Given the description of an element on the screen output the (x, y) to click on. 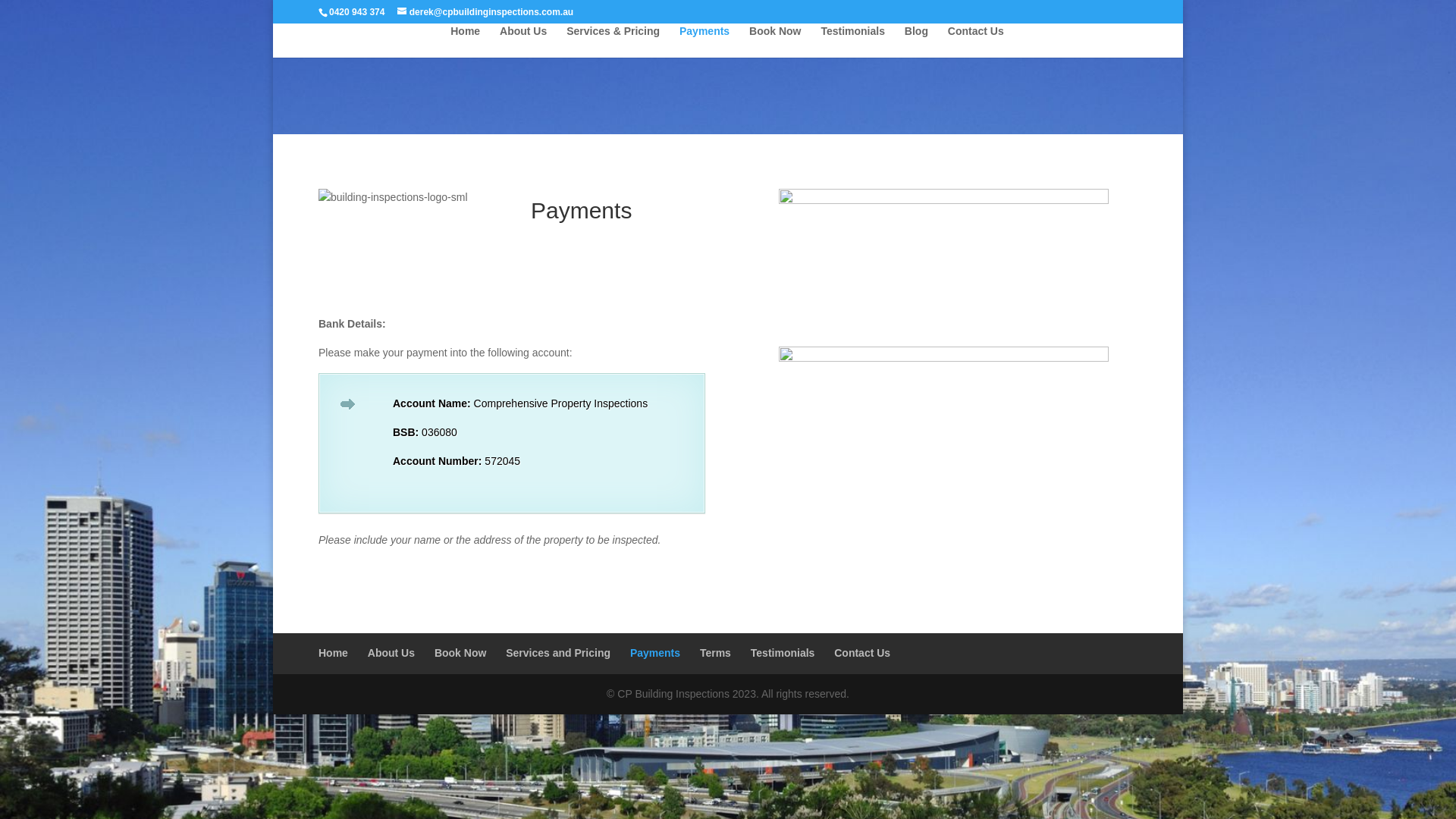
Home Element type: text (333, 652)
Blog Element type: text (916, 41)
Book Now Element type: text (774, 41)
Book Now Element type: text (460, 652)
Testimonials Element type: text (782, 652)
Services & Pricing Element type: text (612, 41)
Home Element type: text (465, 41)
Contact Us Element type: text (862, 652)
Payments Element type: text (704, 41)
Terms Element type: text (715, 652)
Payments Element type: text (655, 652)
About Us Element type: text (522, 41)
Testimonials Element type: text (852, 41)
Services and Pricing Element type: text (557, 652)
About Us Element type: text (390, 652)
derek@cpbuildinginspections.com.au Element type: text (485, 11)
Contact Us Element type: text (975, 41)
